Given the description of an element on the screen output the (x, y) to click on. 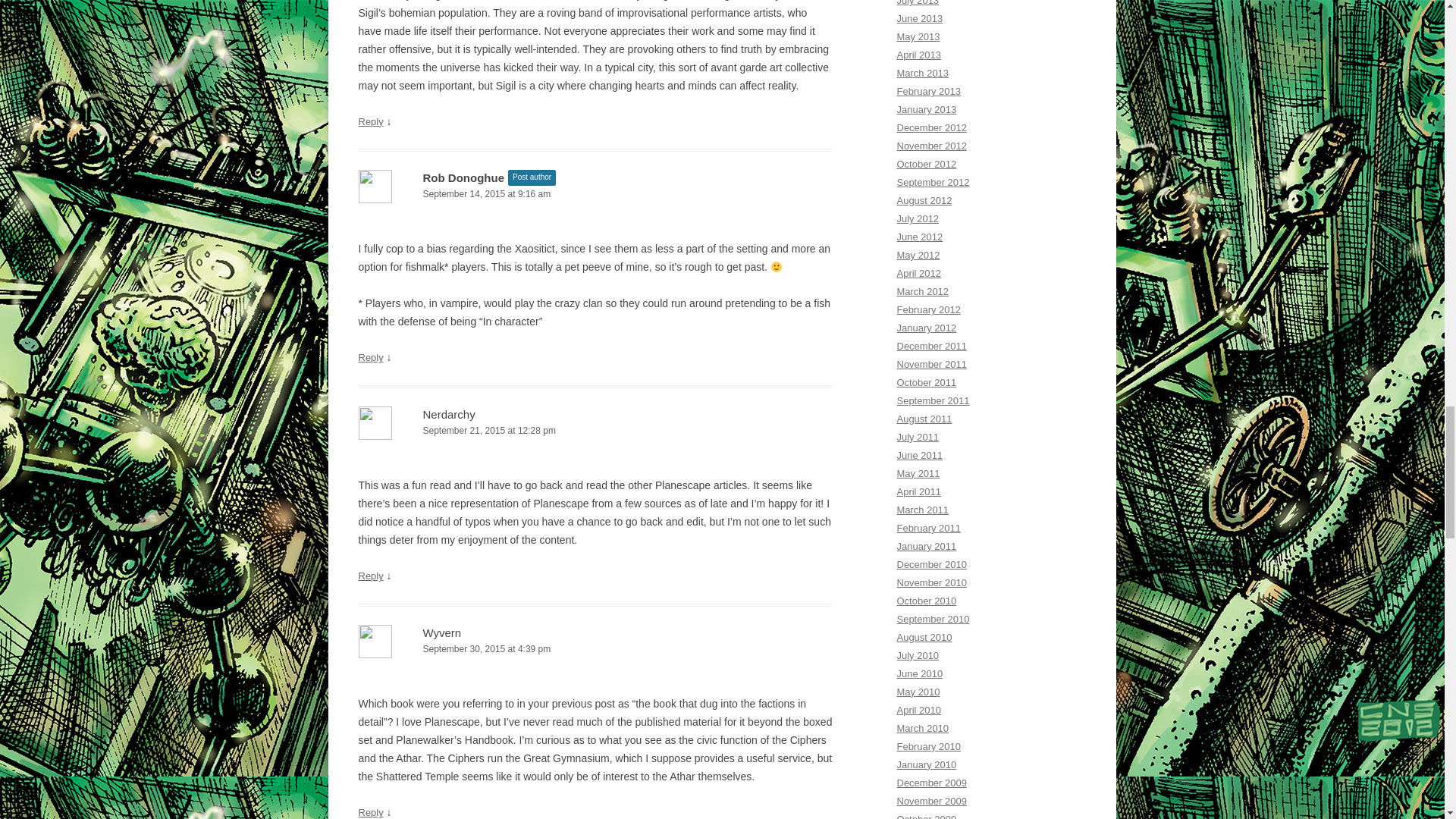
September 21, 2015 at 12:28 pm (594, 430)
Nerdarchy (449, 413)
Reply (370, 357)
Reply (370, 575)
Reply (370, 812)
September 14, 2015 at 9:16 am (594, 194)
September 30, 2015 at 4:39 pm (594, 649)
Reply (370, 120)
